Given the description of an element on the screen output the (x, y) to click on. 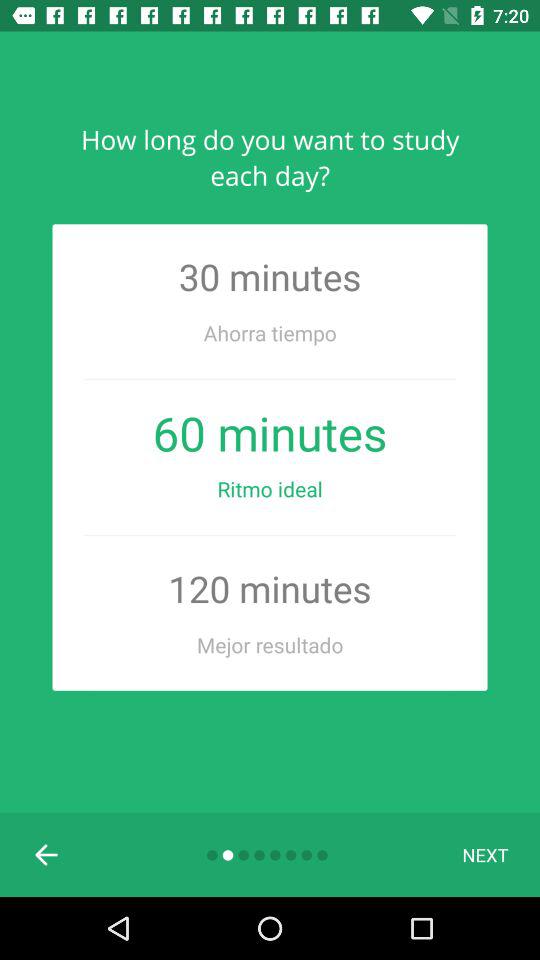
press the next icon (485, 854)
